Given the description of an element on the screen output the (x, y) to click on. 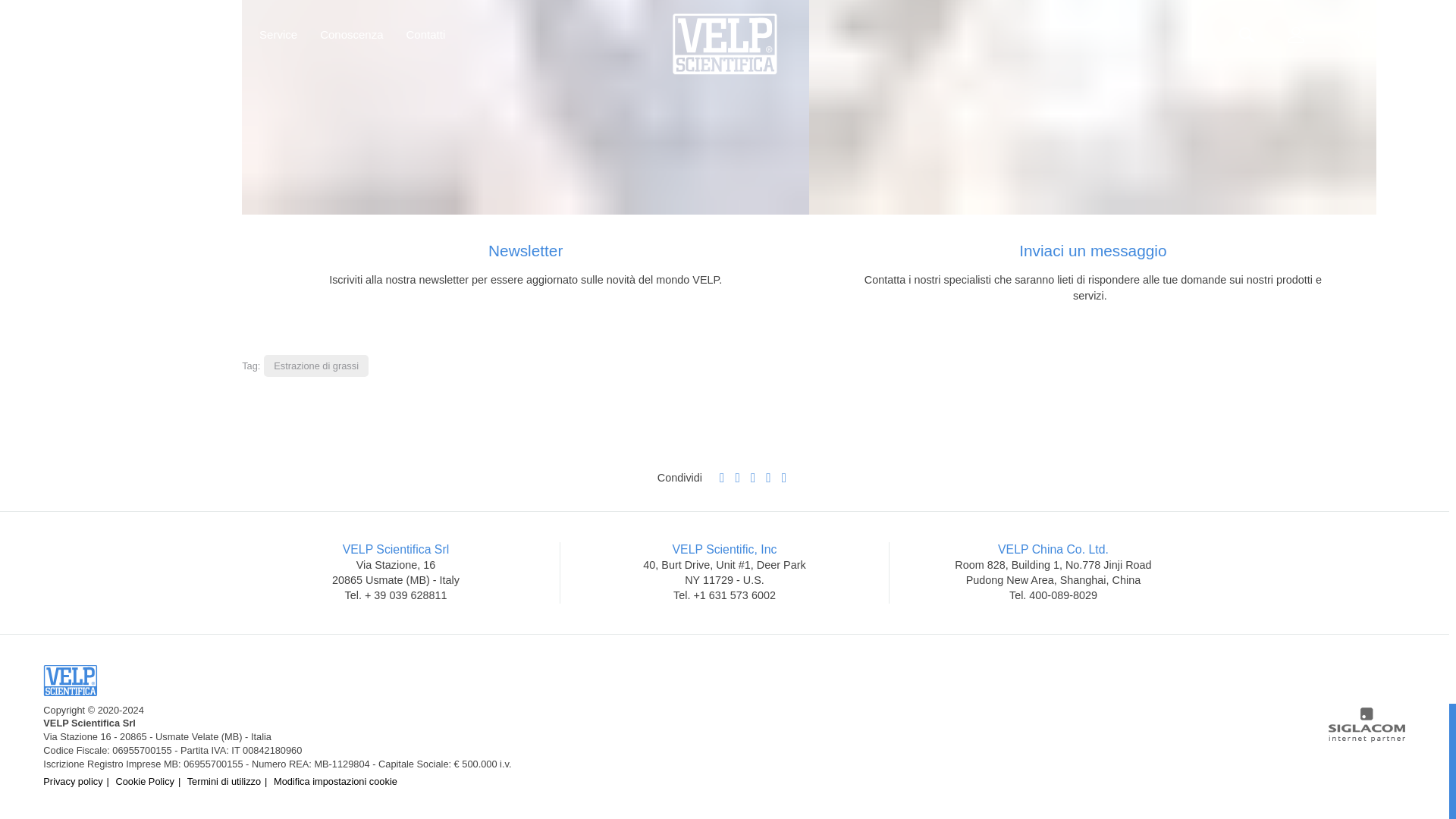
Newsletter (525, 107)
Inviaci un messaggio (1092, 107)
